Given the description of an element on the screen output the (x, y) to click on. 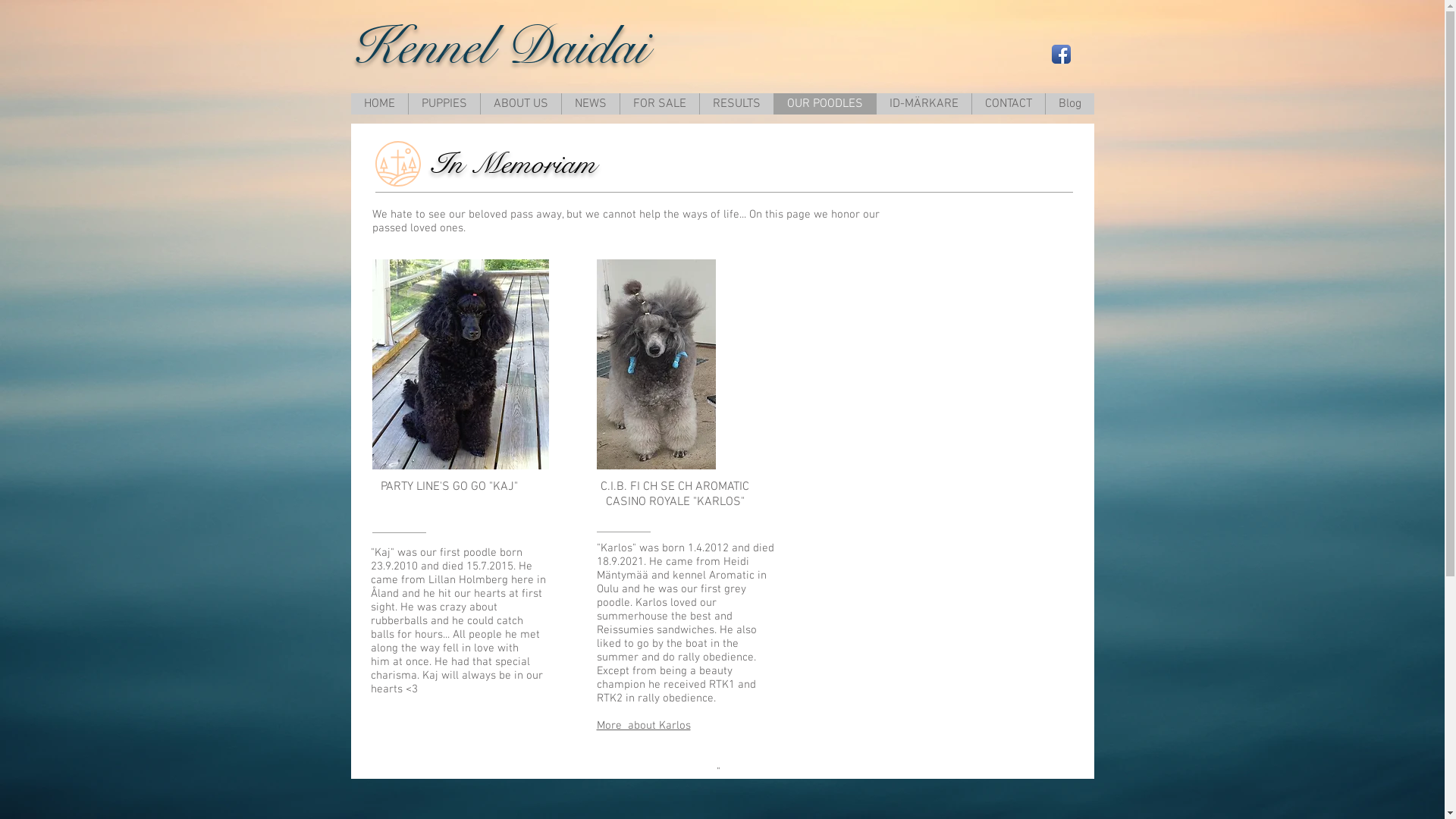
HOME Element type: text (378, 103)
FOR SALE Element type: text (658, 103)
kajstugan2.jpg Element type: hover (459, 364)
ABOUT US Element type: text (519, 103)
Kennel Daidai  Element type: text (505, 46)
CONTACT Element type: text (1007, 103)
Blog Element type: text (1069, 103)
NEWS Element type: text (590, 103)
OUR POODLES Element type: text (824, 103)
PUPPIES Element type: text (443, 103)
RESULTS Element type: text (736, 103)
More  about Karlos Element type: text (643, 725)
